Given the description of an element on the screen output the (x, y) to click on. 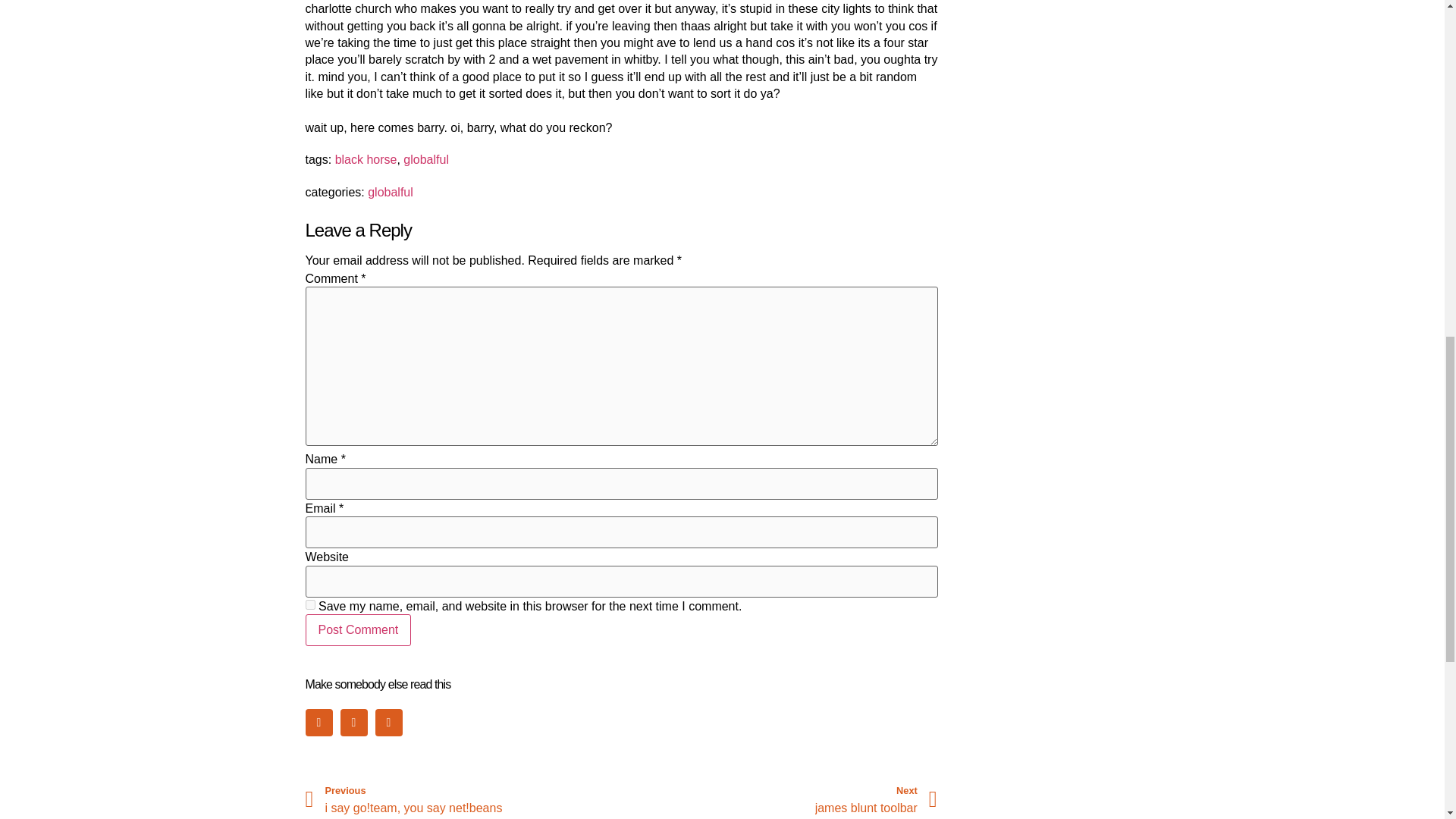
Post Comment (357, 630)
globalful (390, 192)
globalful (425, 159)
yes (779, 799)
black horse (309, 604)
Post Comment (462, 799)
